Given the description of an element on the screen output the (x, y) to click on. 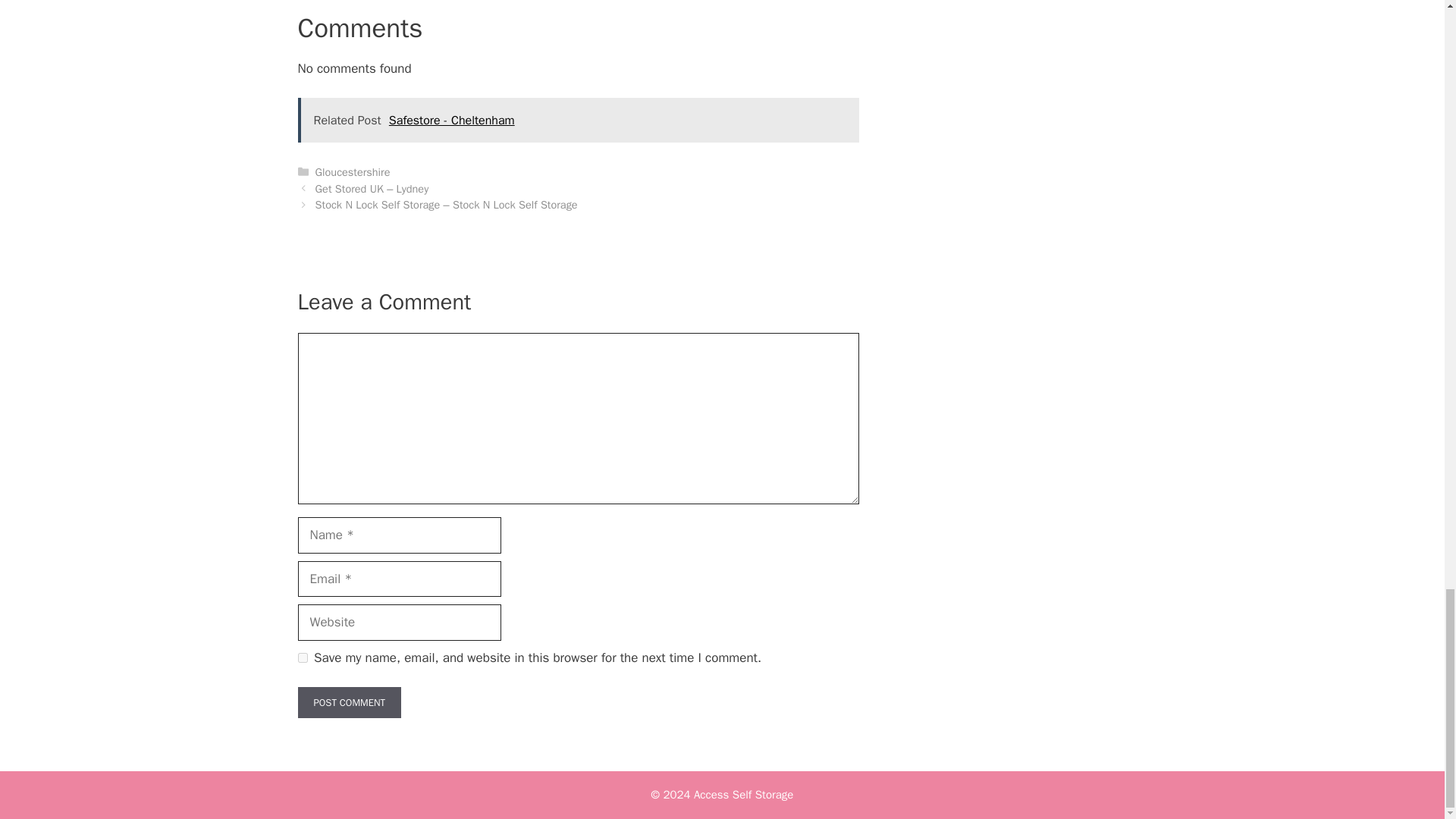
Gloucestershire (352, 172)
yes (302, 657)
Post Comment (349, 703)
Post Comment (349, 703)
Related Post  Safestore - Cheltenham (578, 120)
